Given the description of an element on the screen output the (x, y) to click on. 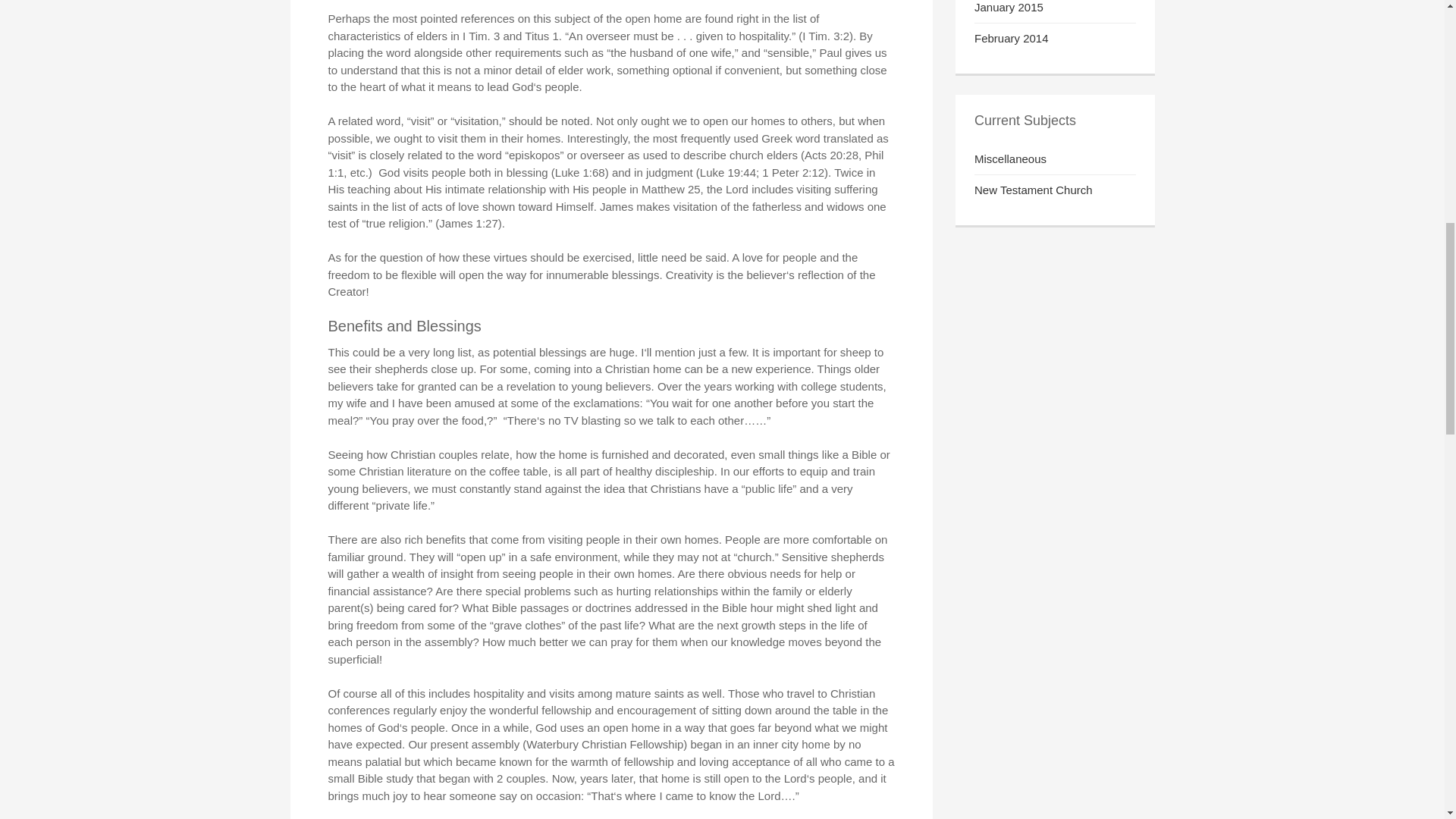
February 2014 (1011, 38)
January 2015 (1008, 6)
Miscellaneous (1010, 158)
New Testament Church (1033, 189)
